Given the description of an element on the screen output the (x, y) to click on. 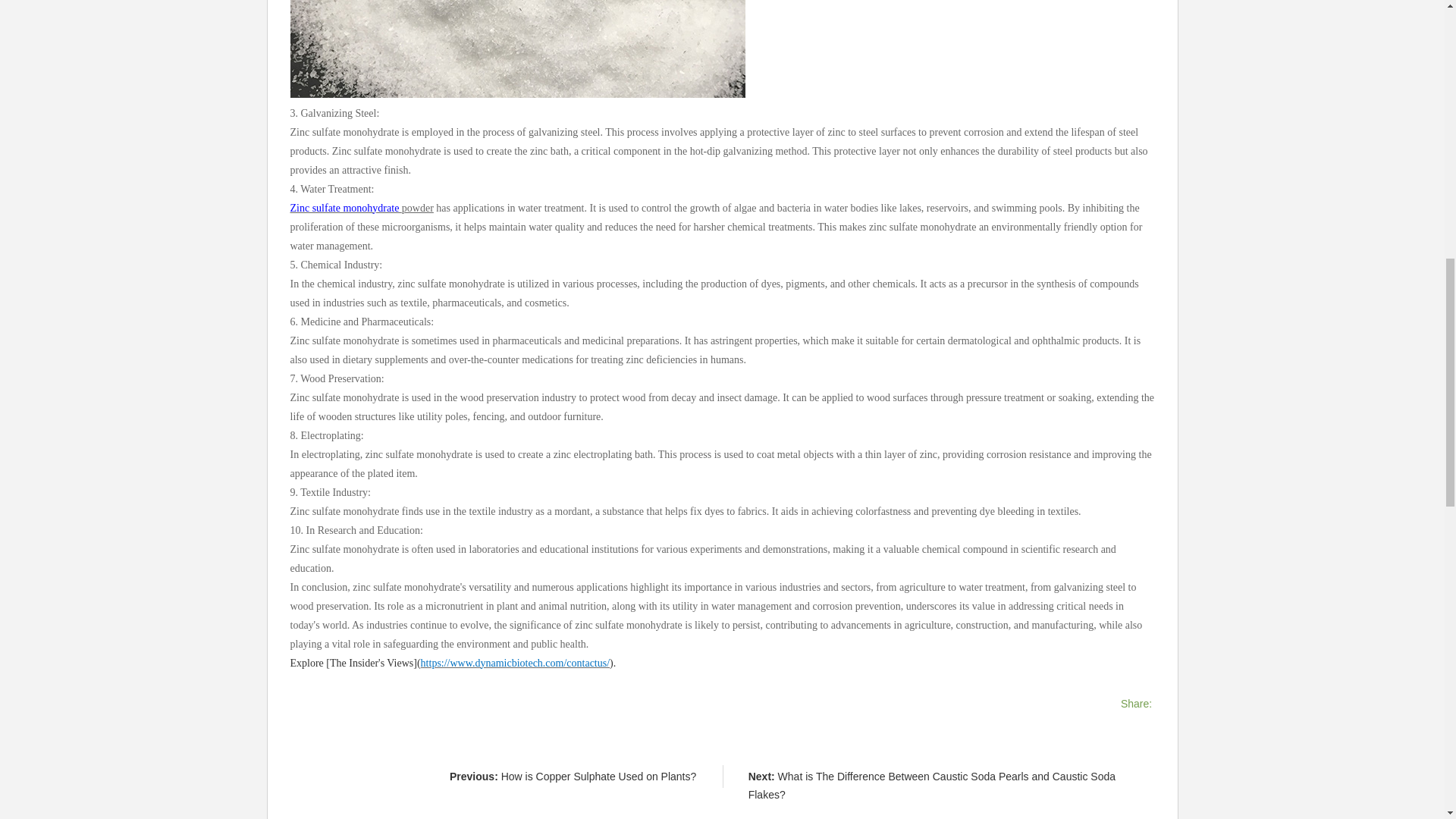
Zinc sulfate monohydrate powder (360, 207)
How is Copper Sulphate Used on Plants? (598, 776)
